Given the description of an element on the screen output the (x, y) to click on. 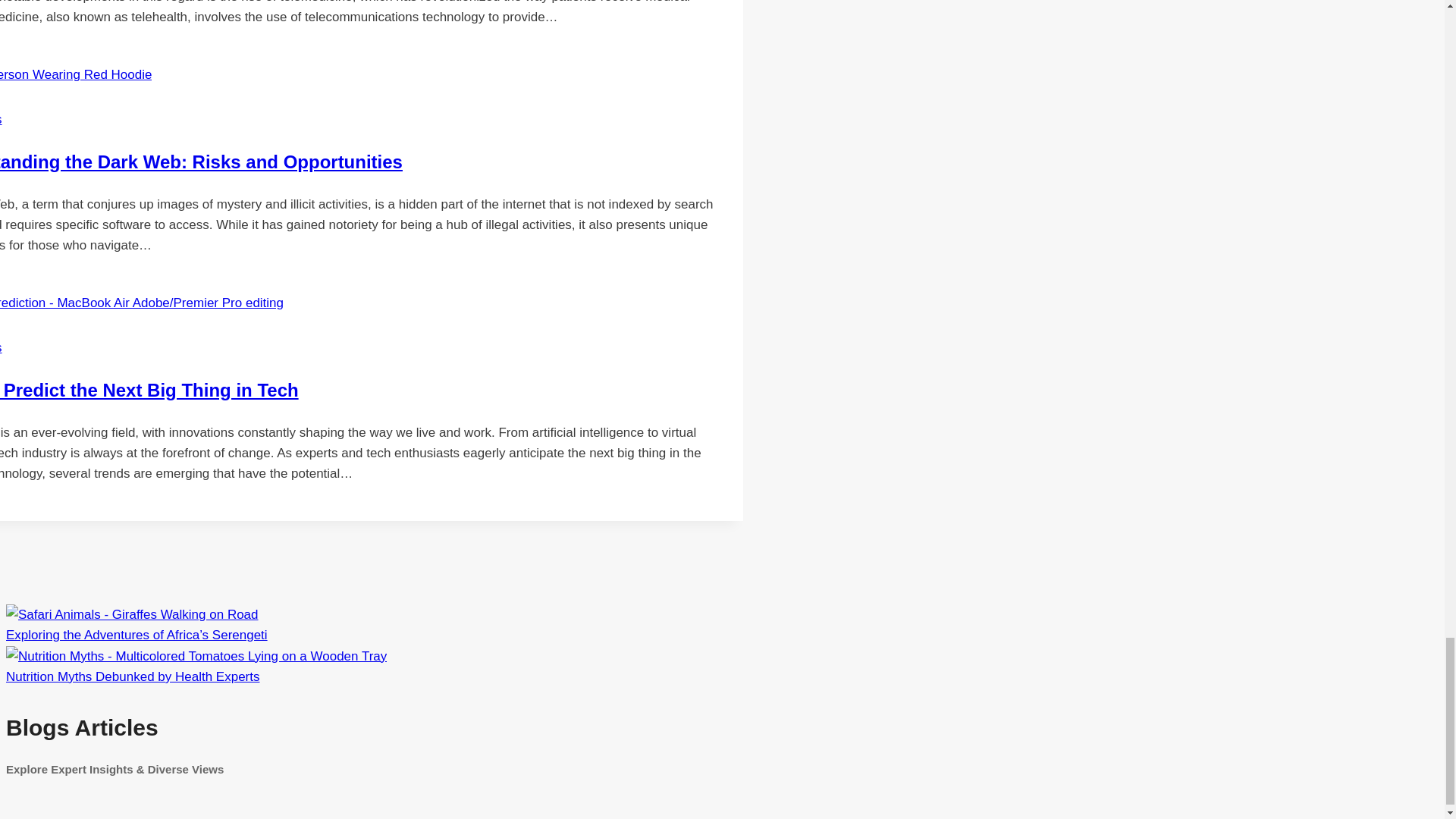
Understanding the Dark Web: Risks and Opportunities (201, 161)
Experts Predict the Next Big Thing in Tech (149, 390)
Nutrition Myths Debunked by Health Experts (196, 656)
